Given the description of an element on the screen output the (x, y) to click on. 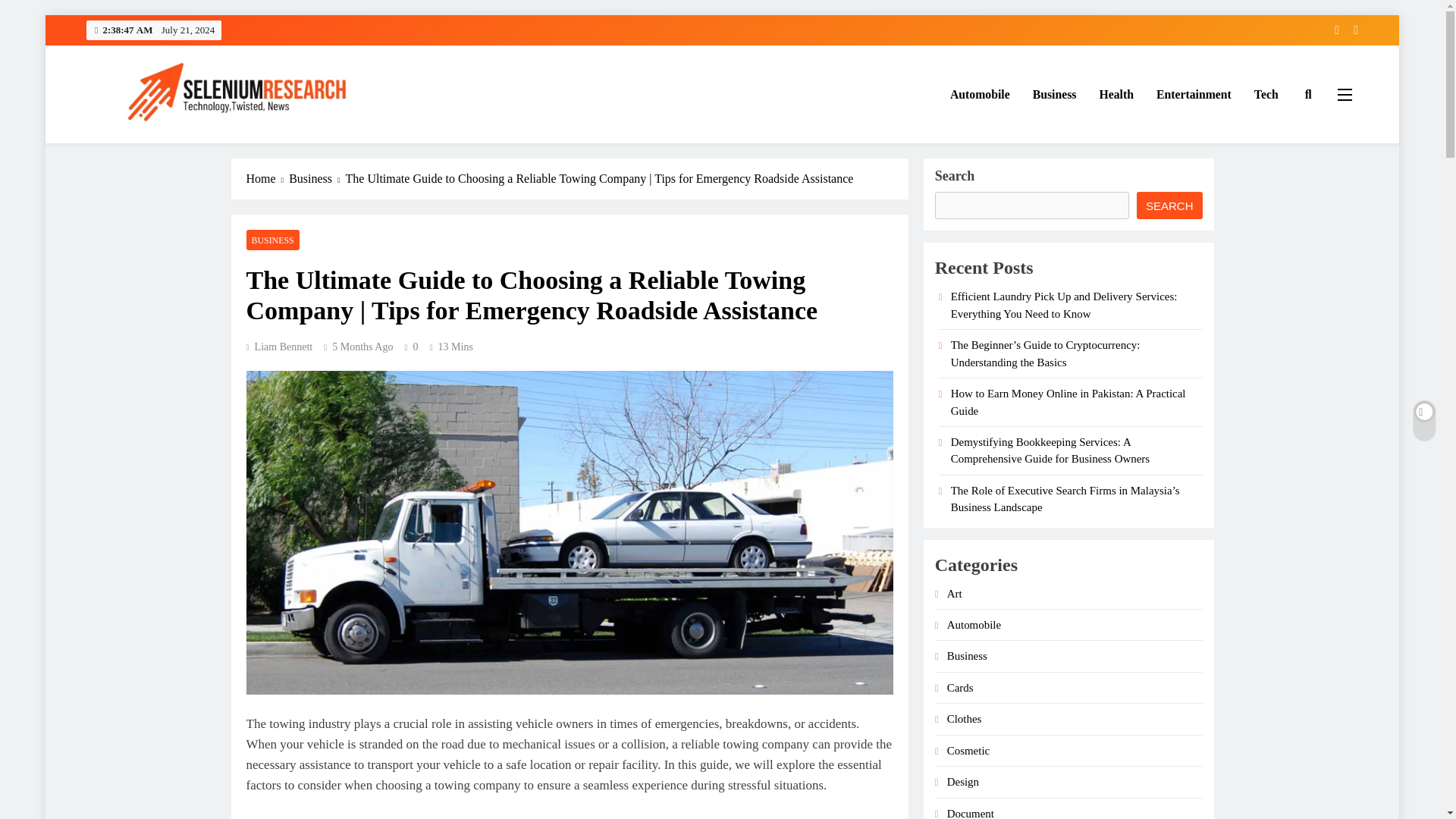
Selenium-research (177, 144)
How to Earn Money Online in Pakistan: A Practical Guide (1068, 401)
Entertainment (1193, 94)
Business (1054, 94)
Tech (1266, 94)
Liam Bennett (279, 346)
Business (316, 178)
SEARCH (1169, 205)
Home (267, 178)
Automobile (980, 94)
BUSINESS (272, 240)
5 Months Ago (362, 346)
